Given the description of an element on the screen output the (x, y) to click on. 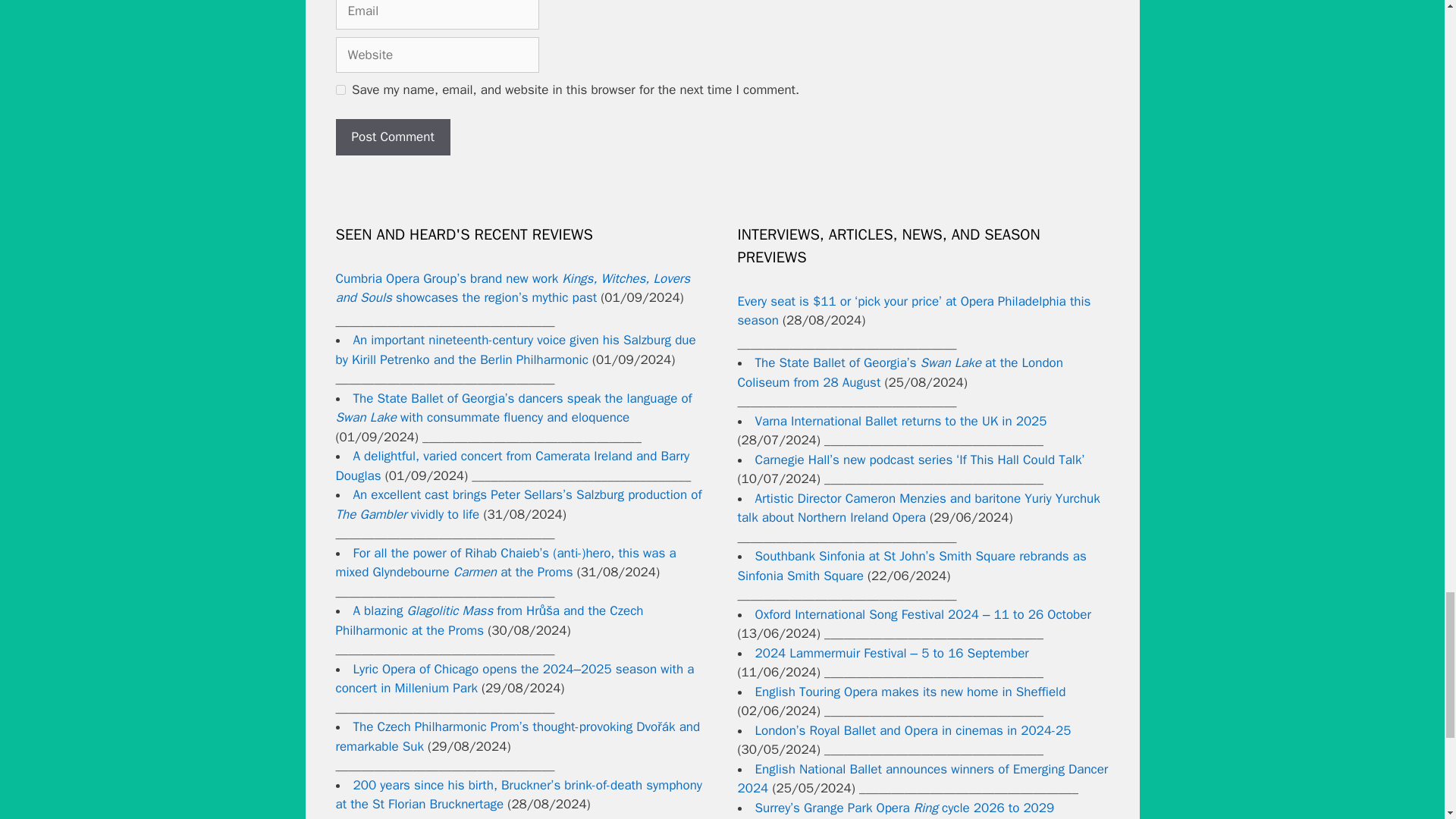
Post Comment (391, 136)
yes (339, 90)
